Given the description of an element on the screen output the (x, y) to click on. 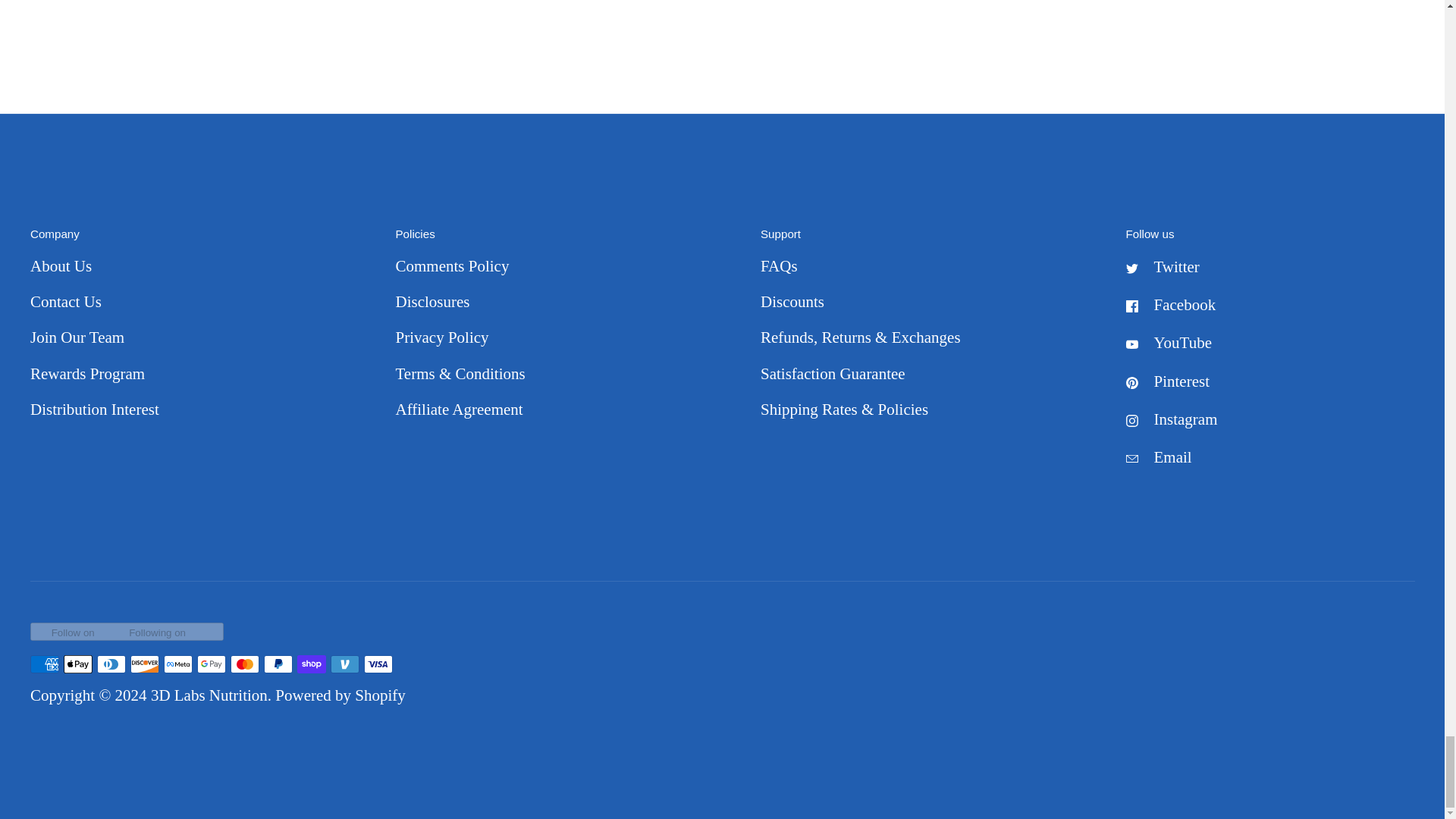
American Express (44, 664)
